Given the description of an element on the screen output the (x, y) to click on. 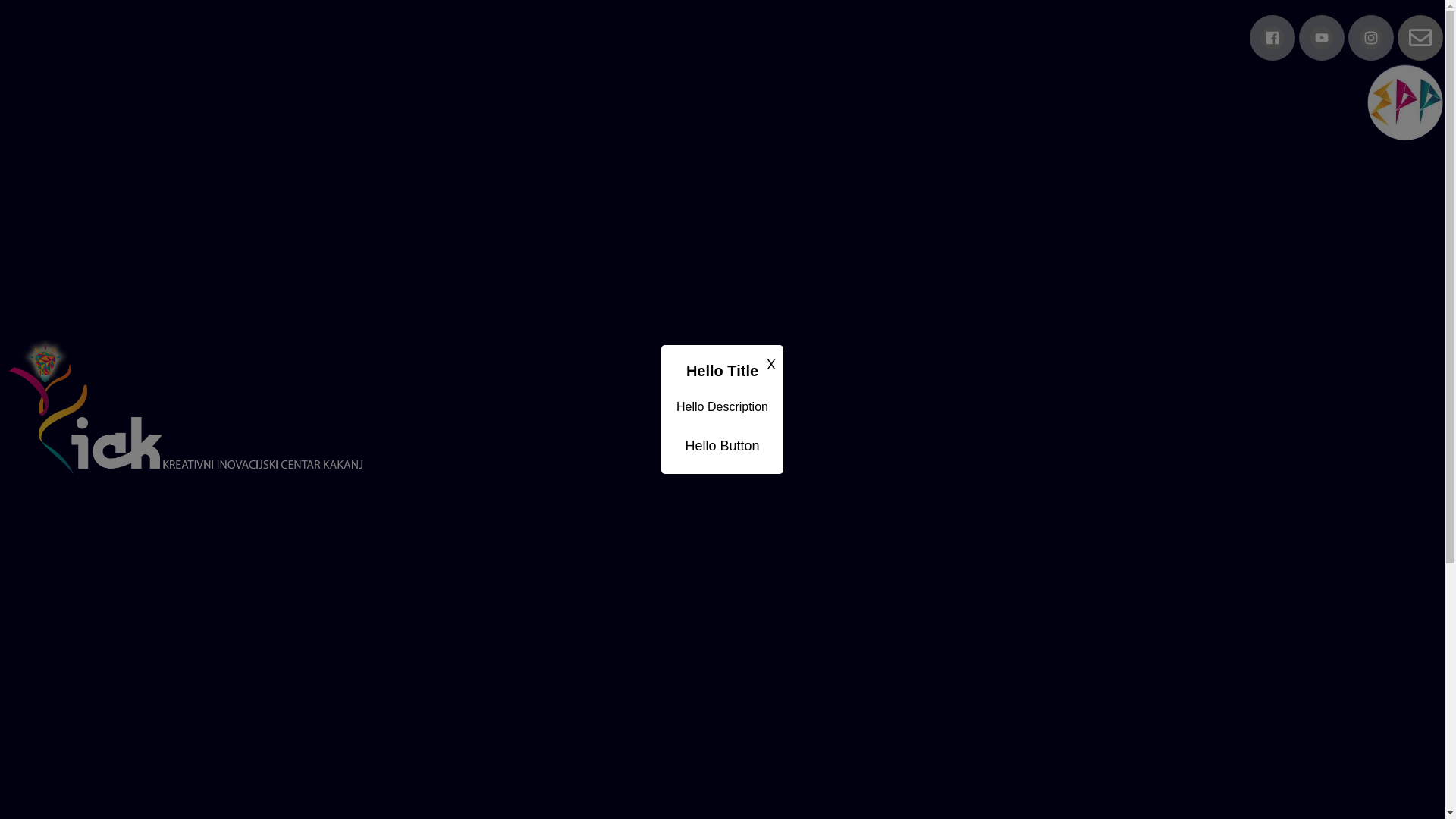
epp_logo Element type: hover (1405, 101)
Hello Button Element type: text (721, 445)
X Element type: text (770, 364)
